Given the description of an element on the screen output the (x, y) to click on. 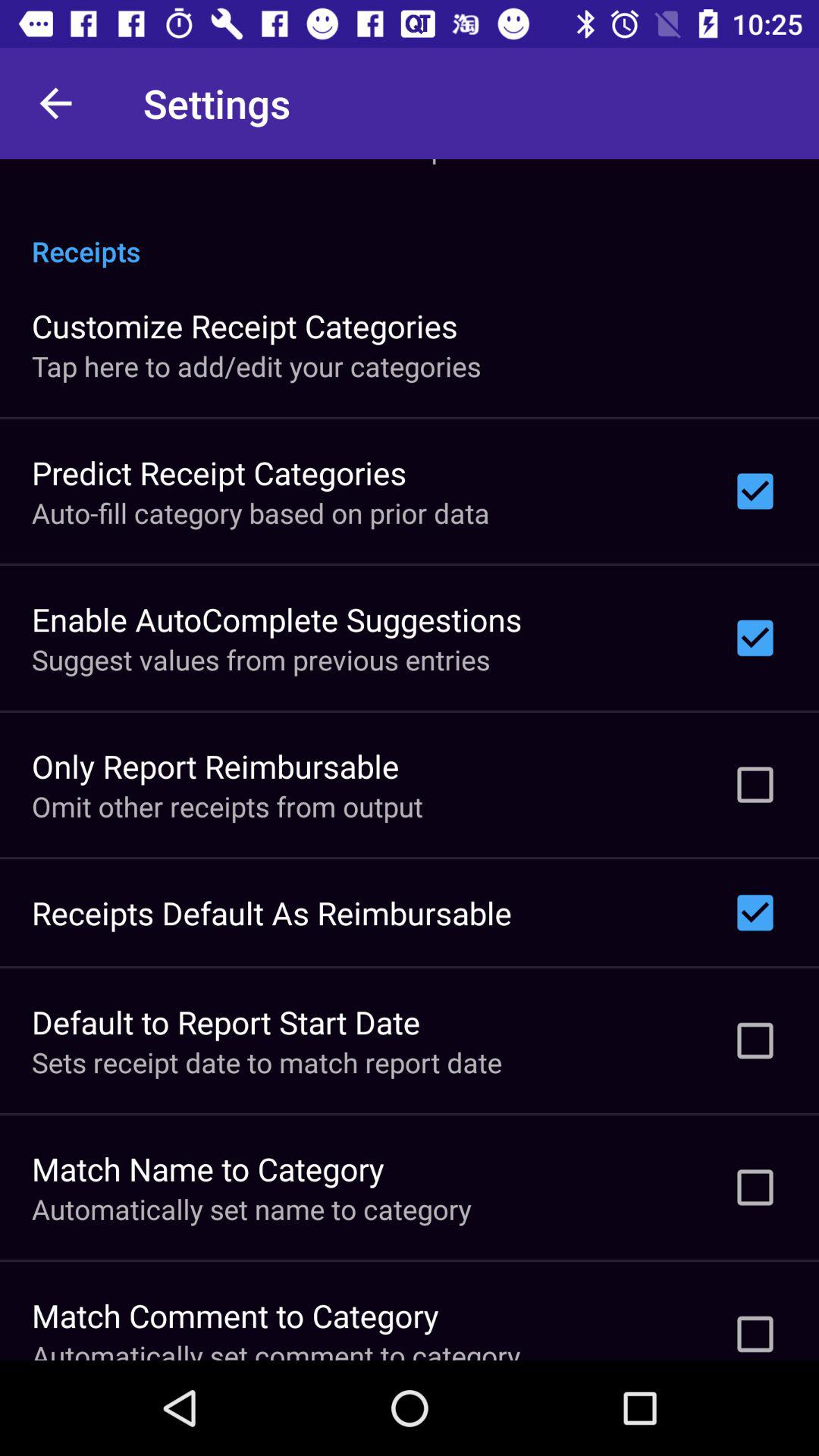
open the don t include item (263, 162)
